Given the description of an element on the screen output the (x, y) to click on. 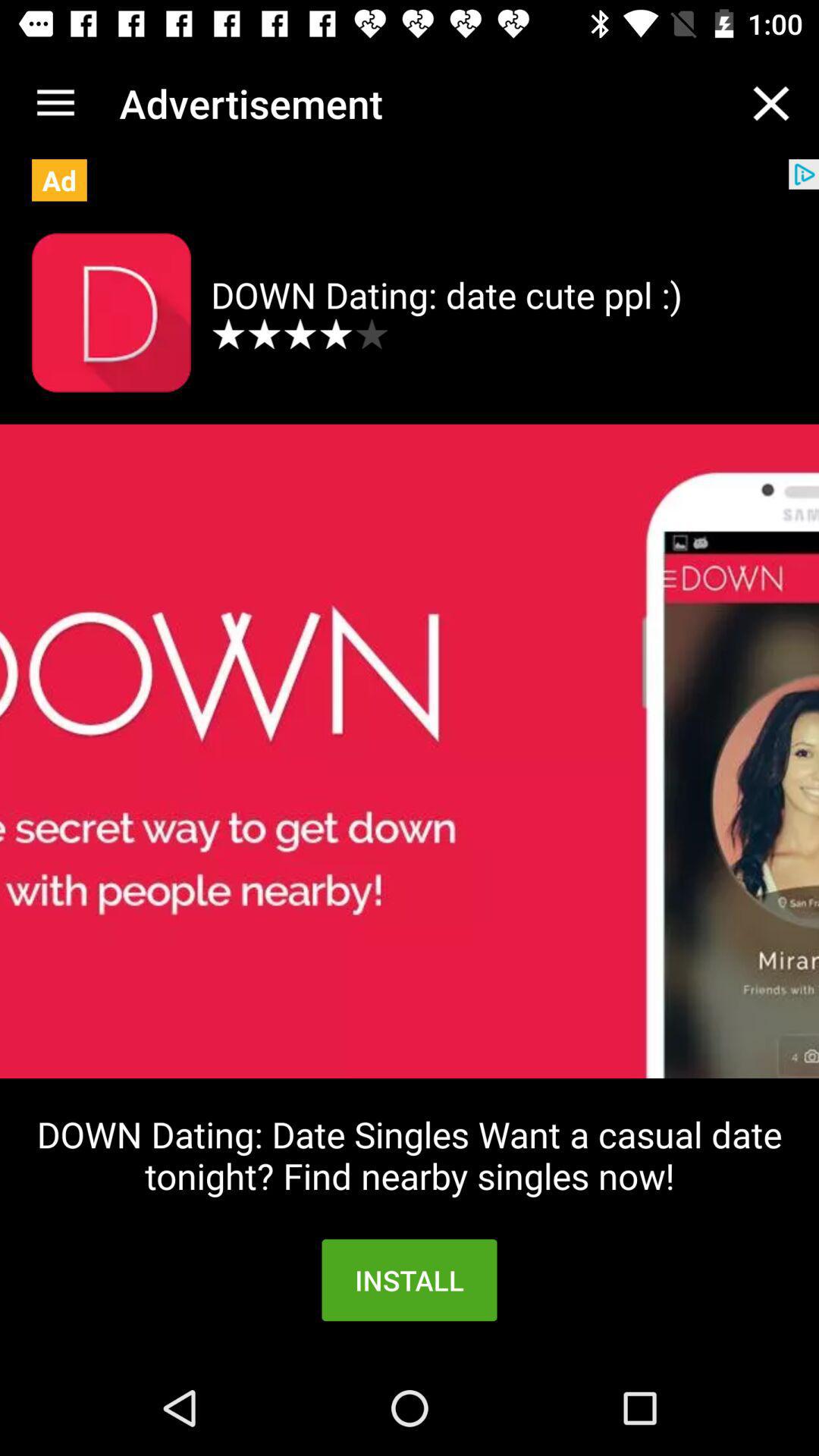
select the icon above ad (55, 103)
